Given the description of an element on the screen output the (x, y) to click on. 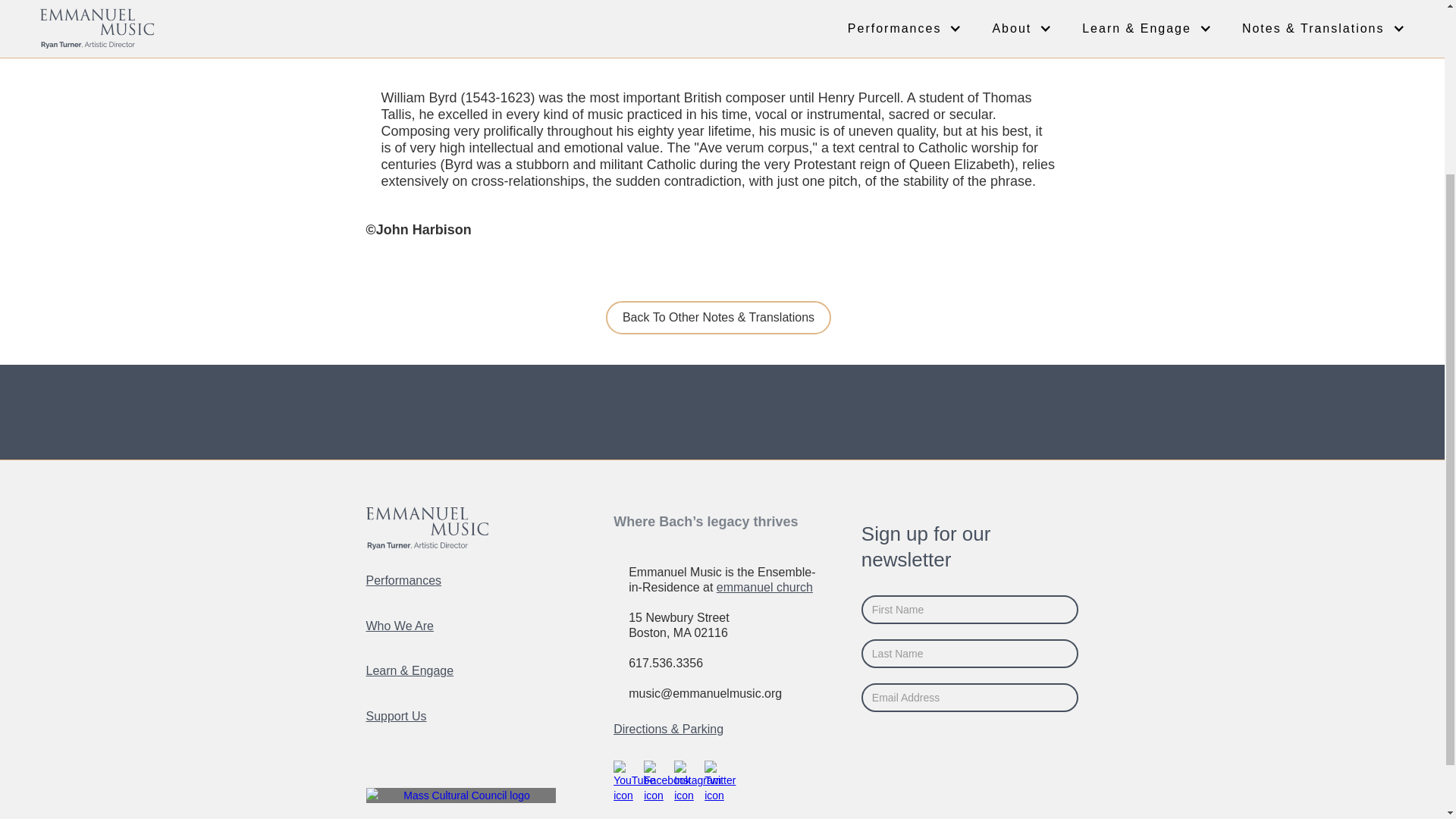
Support Us (402, 716)
Performances (409, 580)
emmanuel church (764, 586)
Who We Are (405, 626)
